Given the description of an element on the screen output the (x, y) to click on. 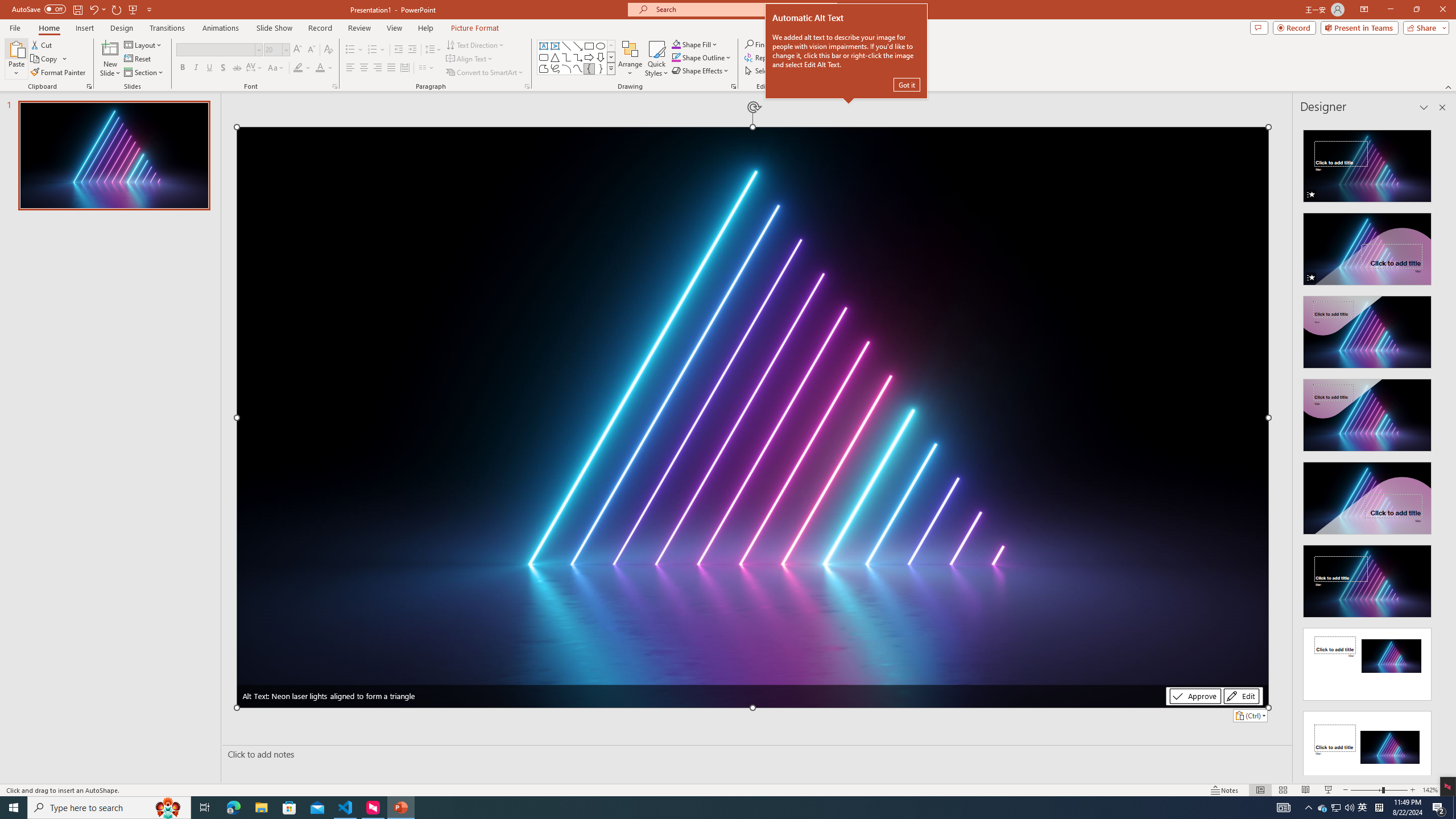
Design Idea (1366, 743)
Got it (906, 84)
